Given the description of an element on the screen output the (x, y) to click on. 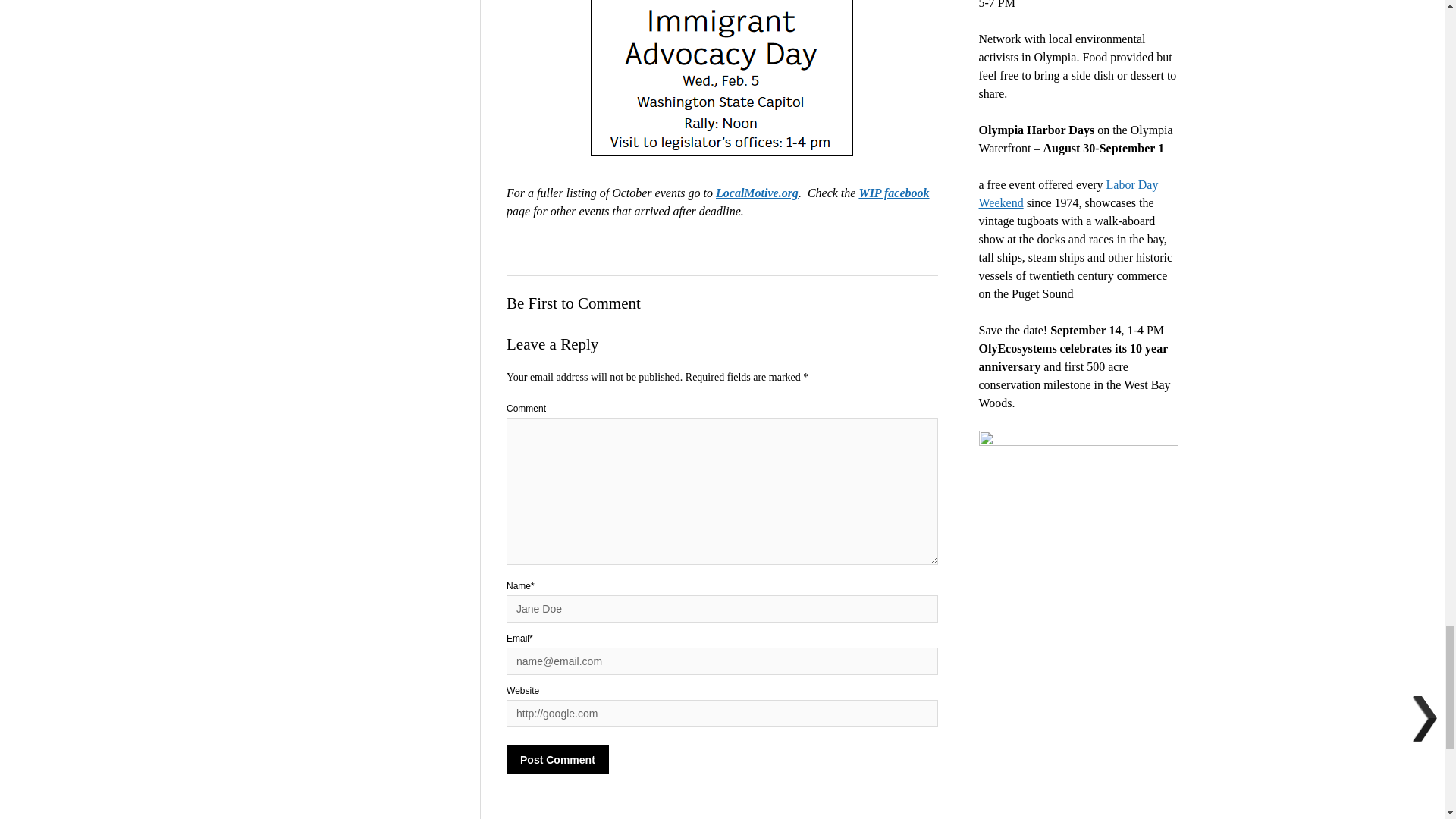
Post Comment (557, 759)
